Given the description of an element on the screen output the (x, y) to click on. 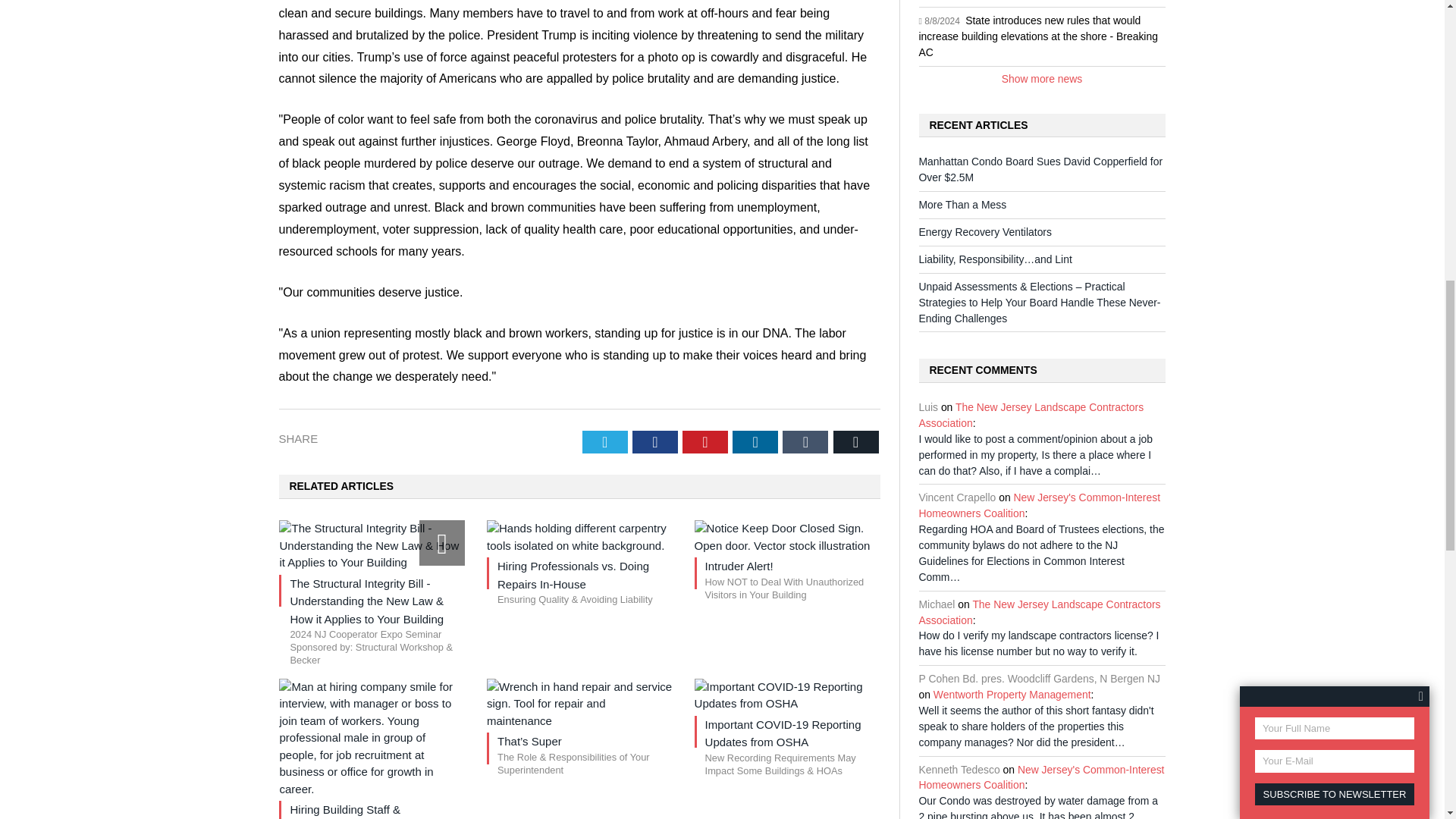
Share on Facebook (654, 441)
Share on LinkedIn (754, 441)
Share on Tumblr (805, 441)
Share on Pinterest (705, 441)
Tweet It (604, 441)
Share via Email (854, 441)
